Given the description of an element on the screen output the (x, y) to click on. 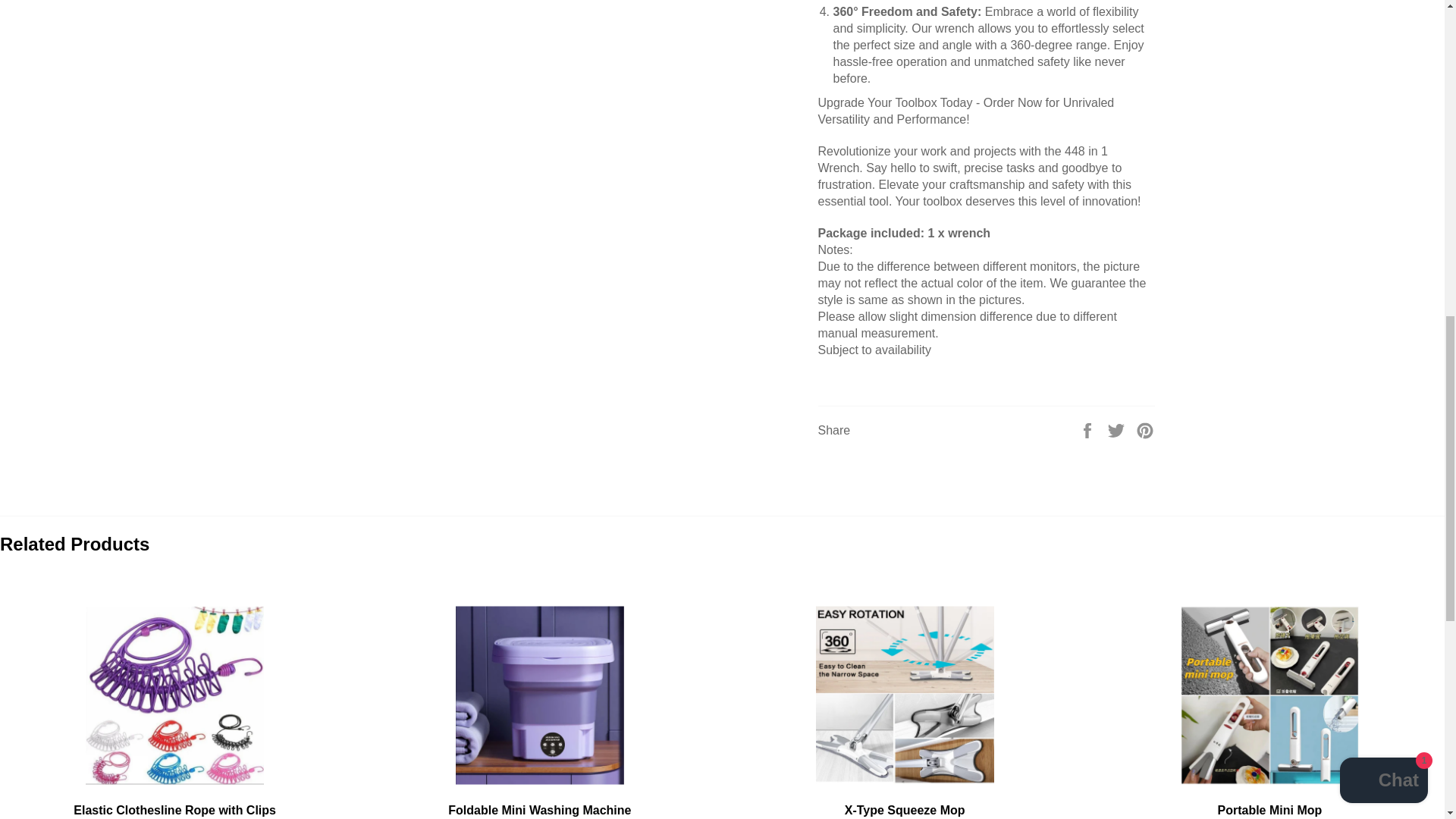
Pin on Pinterest (1144, 430)
Tweet on Twitter (1117, 430)
Share on Facebook (1088, 430)
